Given the description of an element on the screen output the (x, y) to click on. 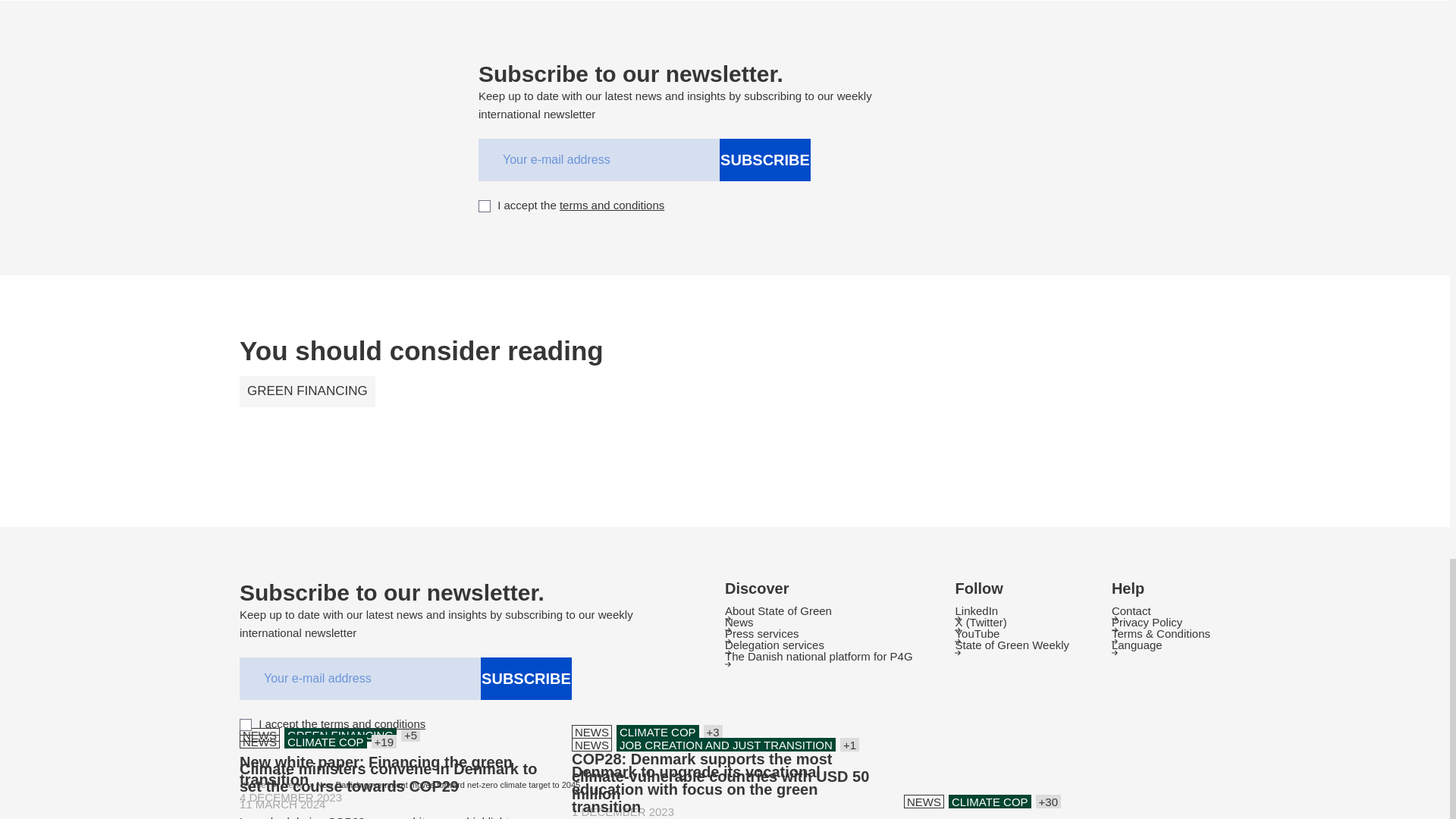
on (484, 205)
on (245, 725)
